Given the description of an element on the screen output the (x, y) to click on. 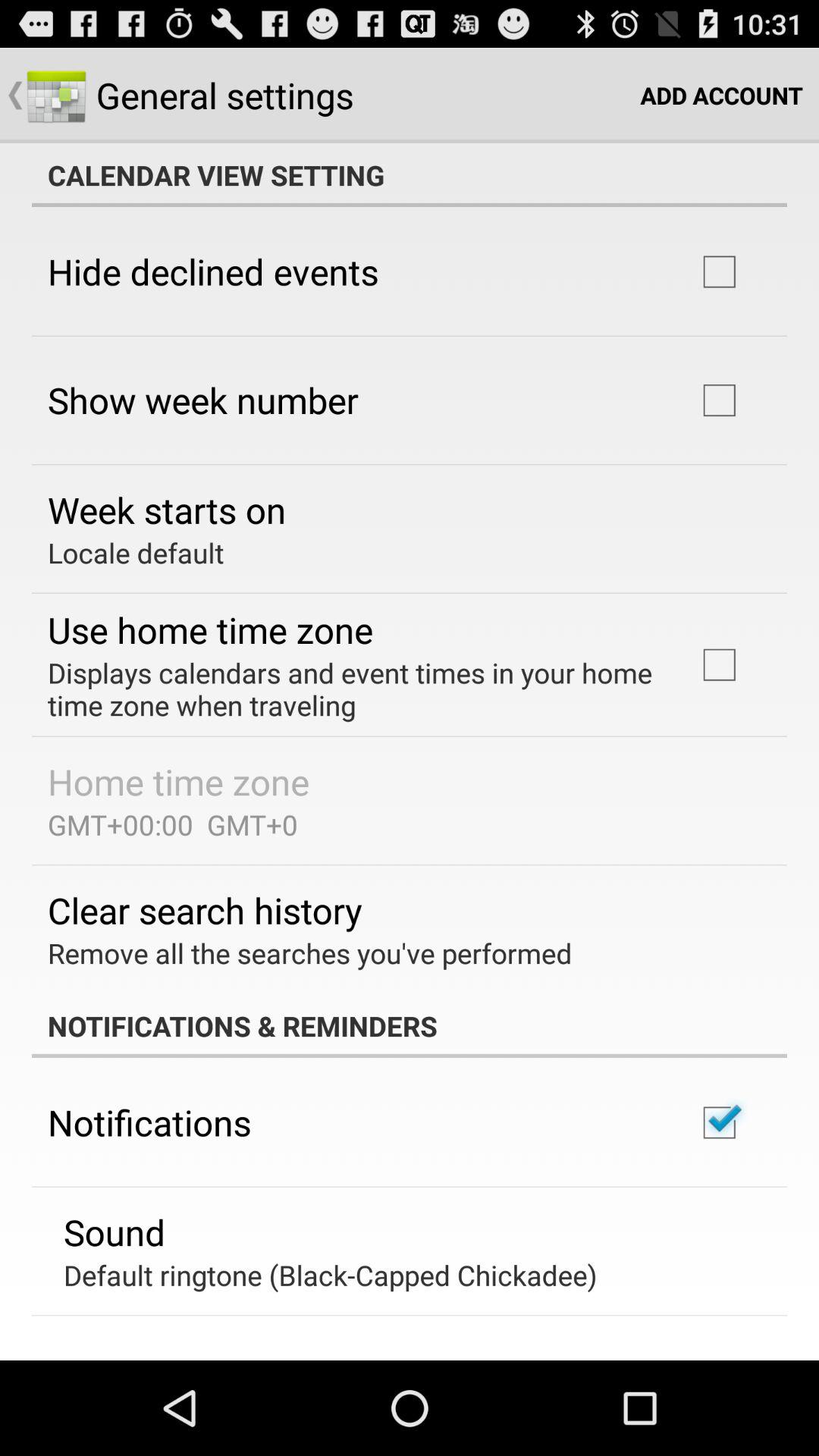
tap the item above show week number (212, 271)
